Given the description of an element on the screen output the (x, y) to click on. 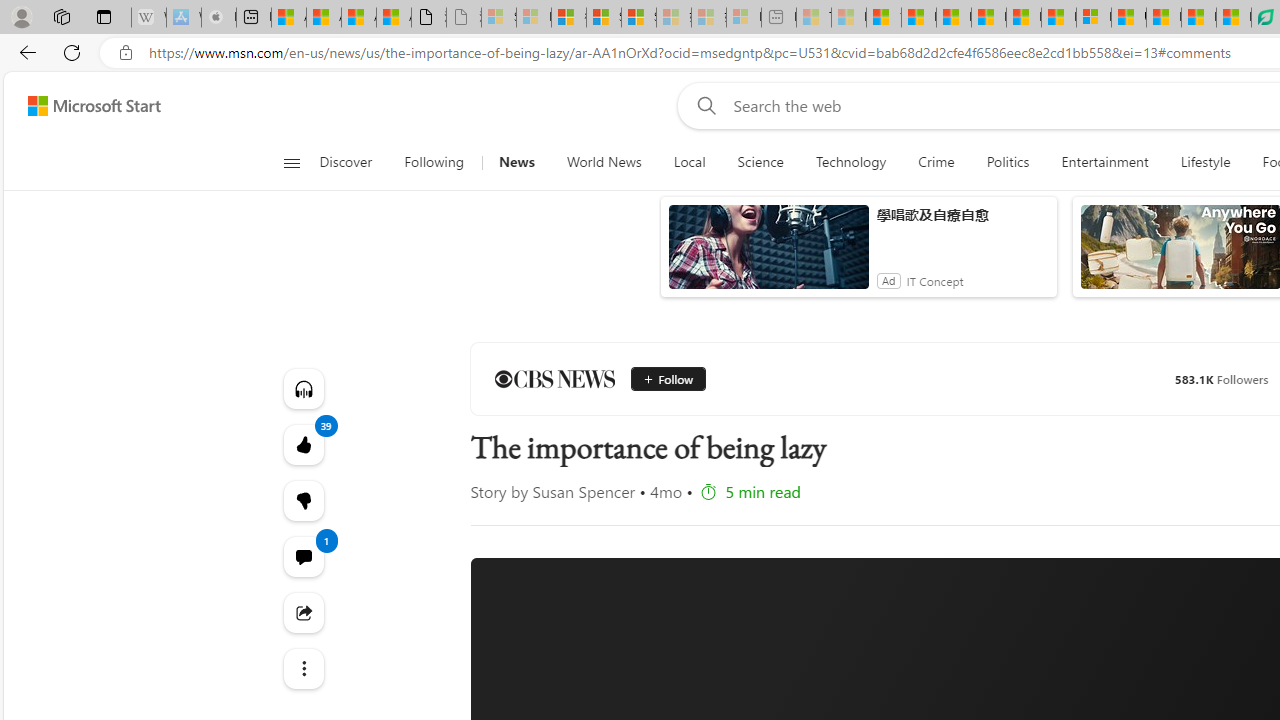
Follow (659, 378)
Share this story (302, 612)
anim-content (768, 255)
Foo BAR | Trusted Community Engagement and Contributions (1058, 17)
Aberdeen, Hong Kong SAR severe weather | Microsoft Weather (393, 17)
Sign in to your Microsoft account - Sleeping (498, 17)
